Given the description of an element on the screen output the (x, y) to click on. 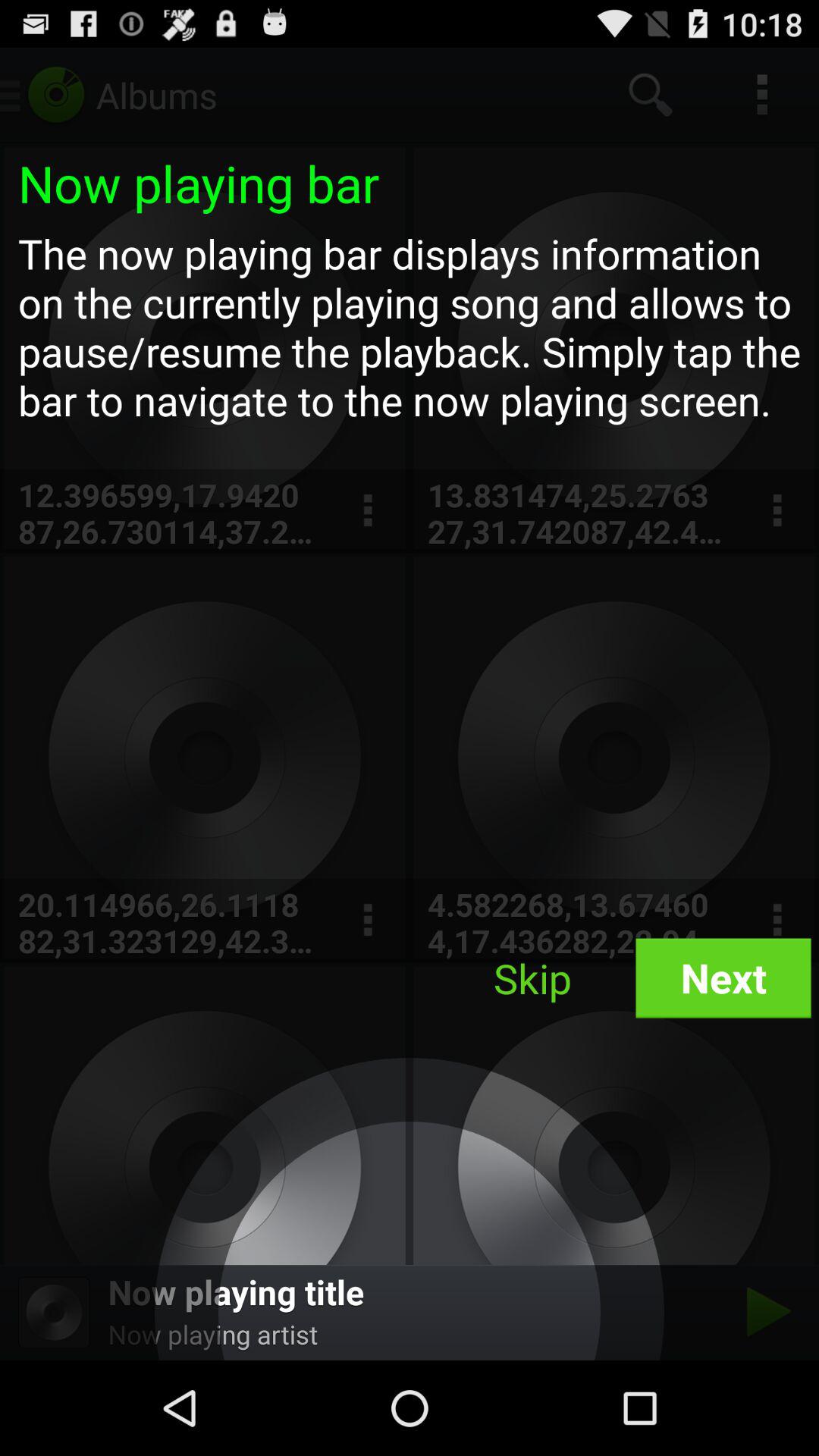
playing track (764, 1312)
